Given the description of an element on the screen output the (x, y) to click on. 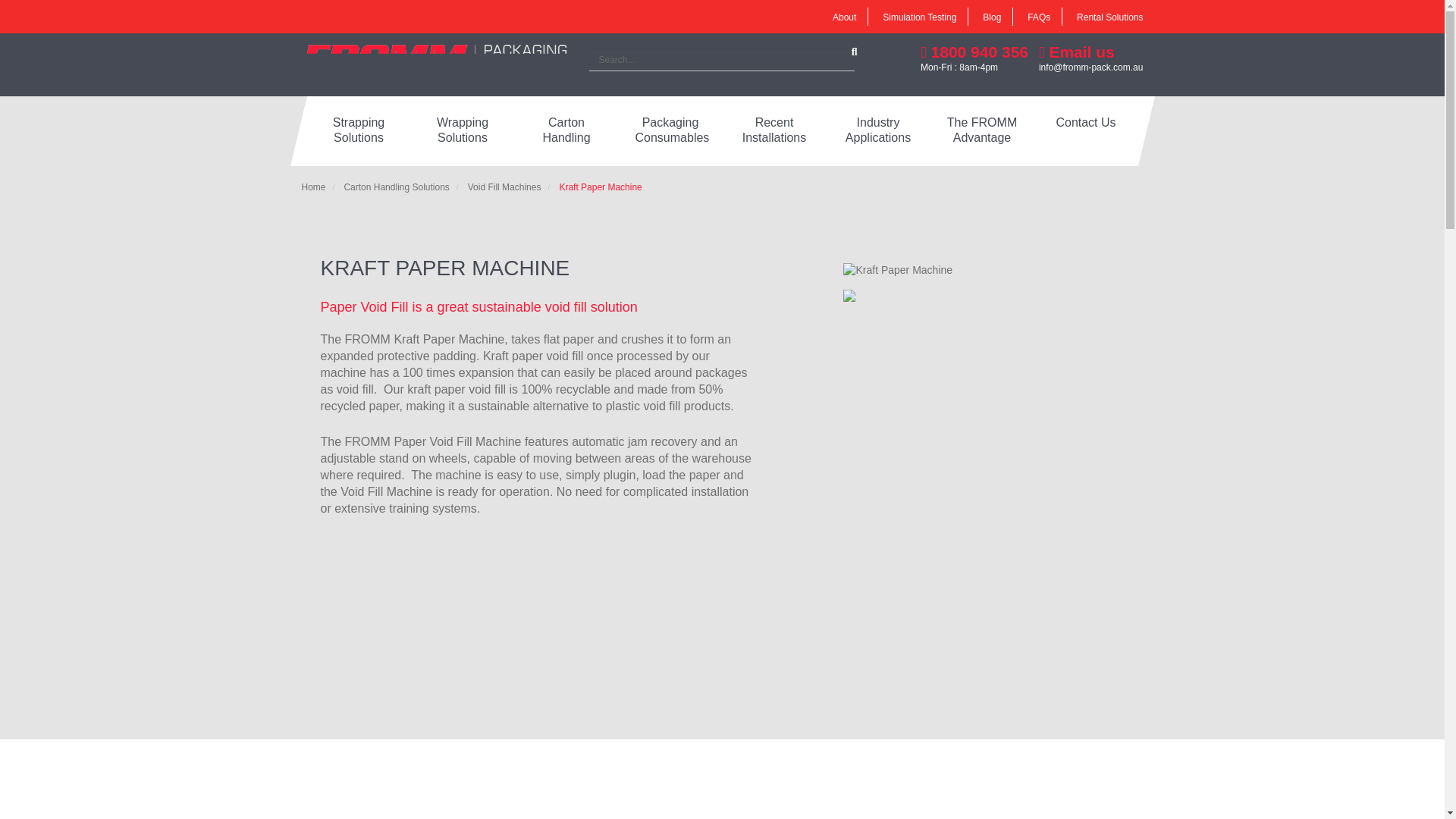
Simulation Testing (919, 17)
Wrapping Solutions (462, 131)
About (844, 17)
Email us (1077, 51)
Strapping Solutions (358, 131)
Blog (991, 17)
Rental Solutions (1109, 17)
FAQs (1038, 17)
1800 940 356 (973, 51)
